Given the description of an element on the screen output the (x, y) to click on. 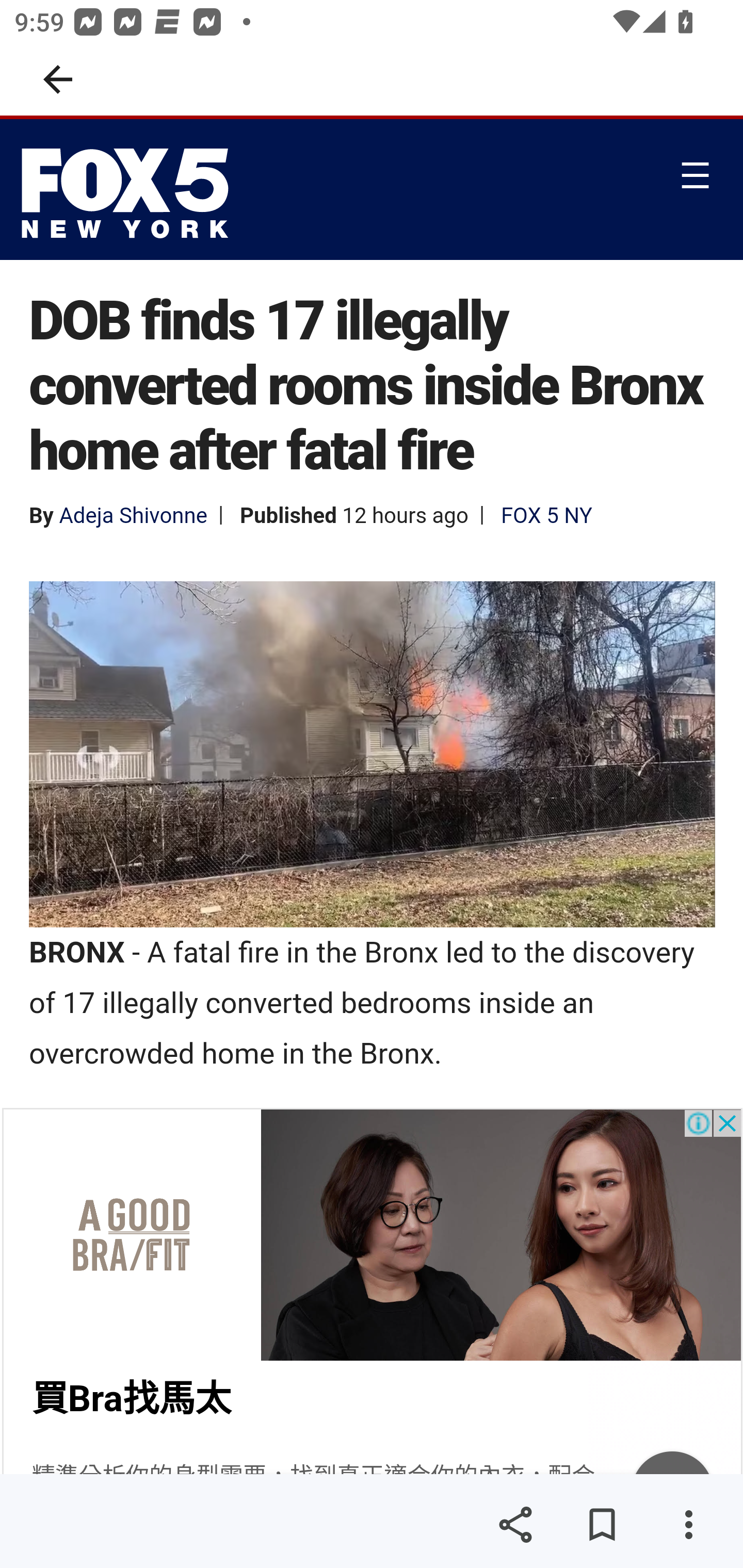
Navigate up (57, 79)
☰ (694, 174)
Fox (129, 192)
Adeja Shivonne (132, 514)
FOX 5 NY (546, 514)
Share (514, 1524)
Save for later (601, 1524)
More options (688, 1524)
